Given the description of an element on the screen output the (x, y) to click on. 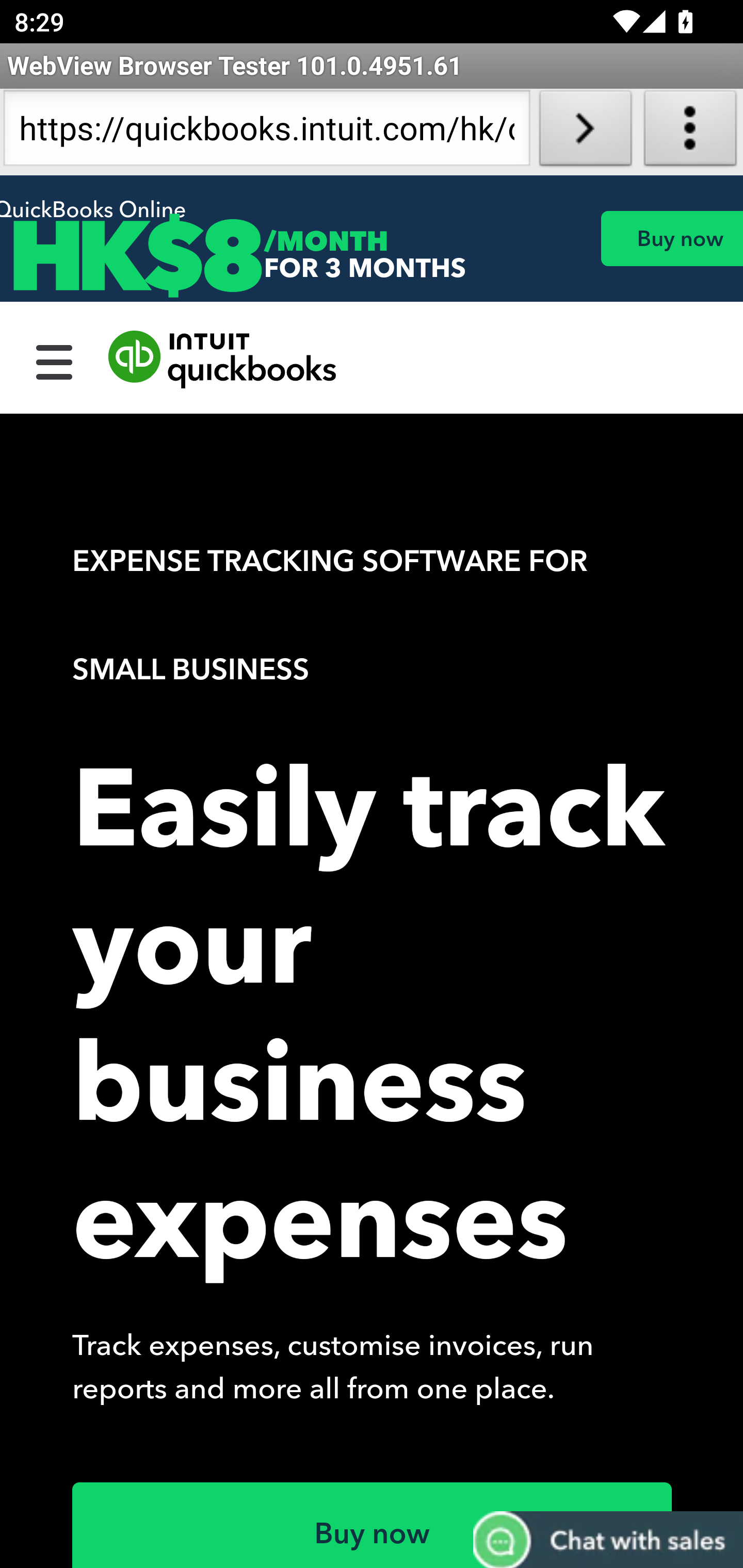
Load URL (585, 132)
About WebView (690, 132)
Buy now (671, 238)
quickbooks-mobile-burger (54, 359)
quickbooks (222, 359)
Buy now (372, 1524)
